Given the description of an element on the screen output the (x, y) to click on. 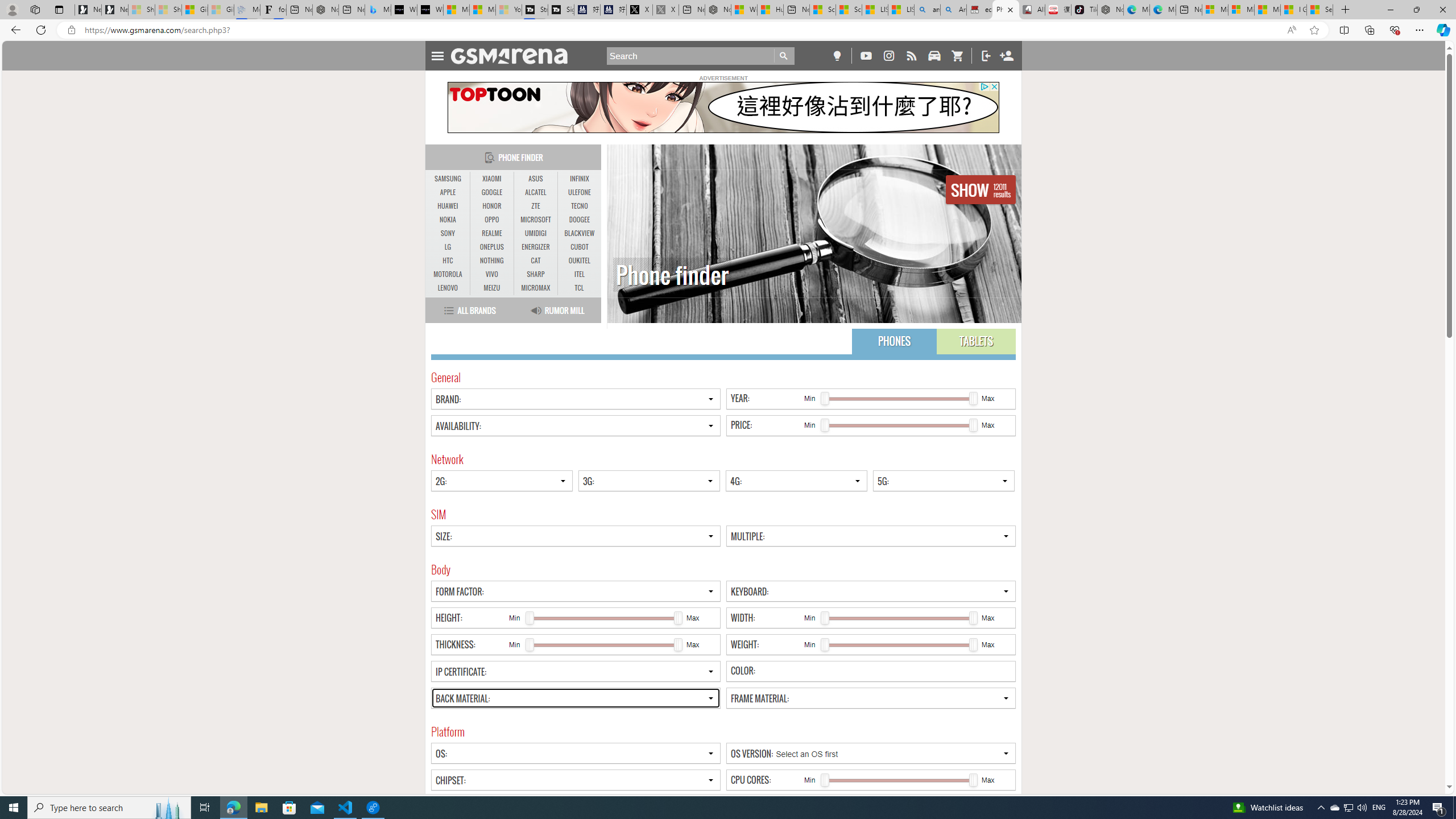
TABLETS (976, 341)
Nordace - Best Sellers (1110, 9)
INFINIX (579, 178)
Huge shark washes ashore at New York City beach | Watch (769, 9)
To get missing image descriptions, open the context menu. (722, 106)
NOTHING (491, 260)
HTC (448, 260)
Show (981, 189)
NOTHING (491, 260)
CUBOT (579, 246)
MICROSOFT (535, 219)
